Given the description of an element on the screen output the (x, y) to click on. 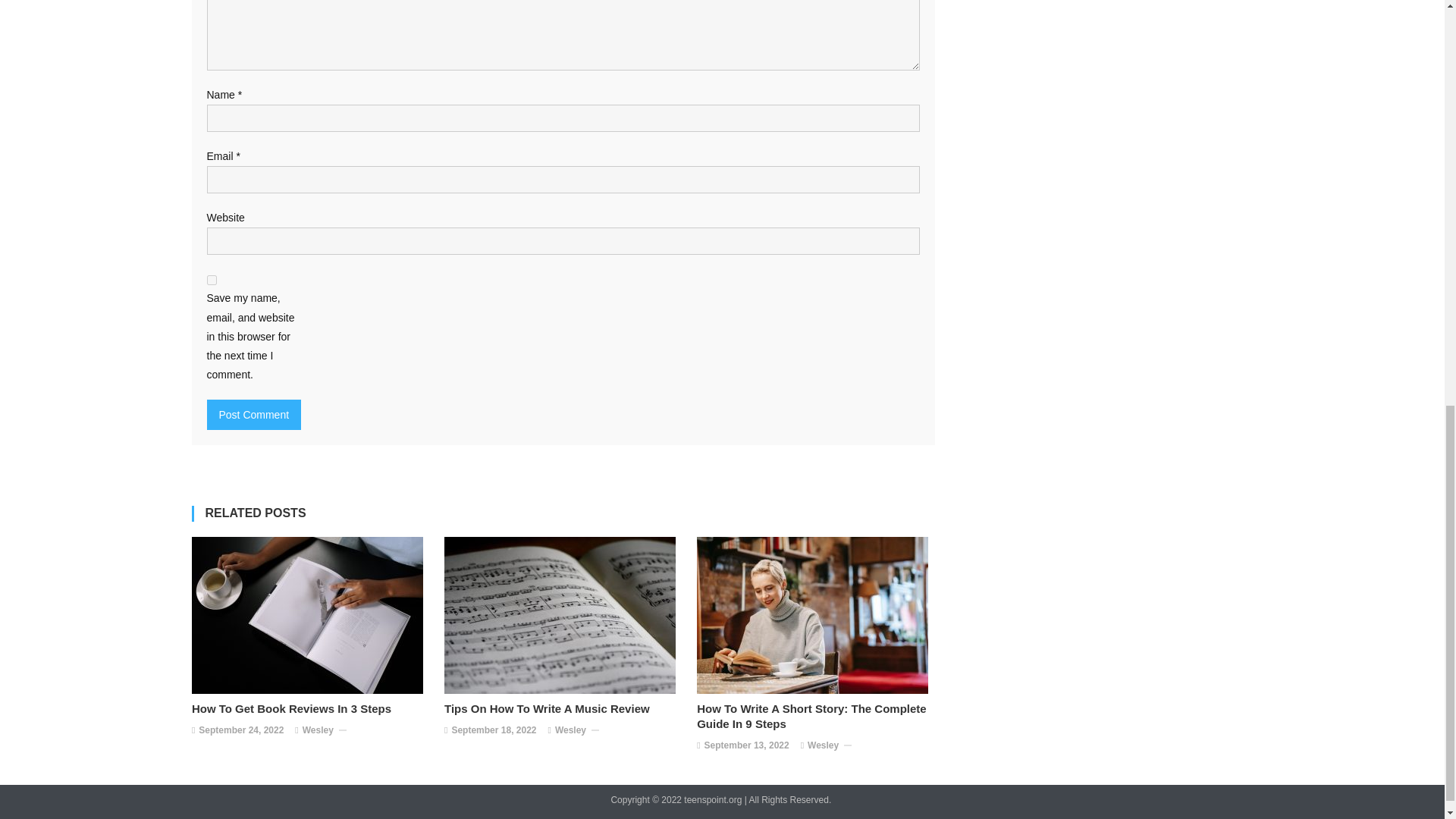
Tips On How To Write A Music Review (562, 708)
Wesley (570, 730)
September 18, 2022 (493, 730)
Post Comment (253, 414)
Post Comment (253, 414)
Wesley (823, 745)
September 24, 2022 (240, 730)
Wesley (317, 730)
How To Write A Short Story: The Complete Guide In 9 Steps (815, 716)
How To Get Book Reviews In 3 Steps (310, 708)
